Given the description of an element on the screen output the (x, y) to click on. 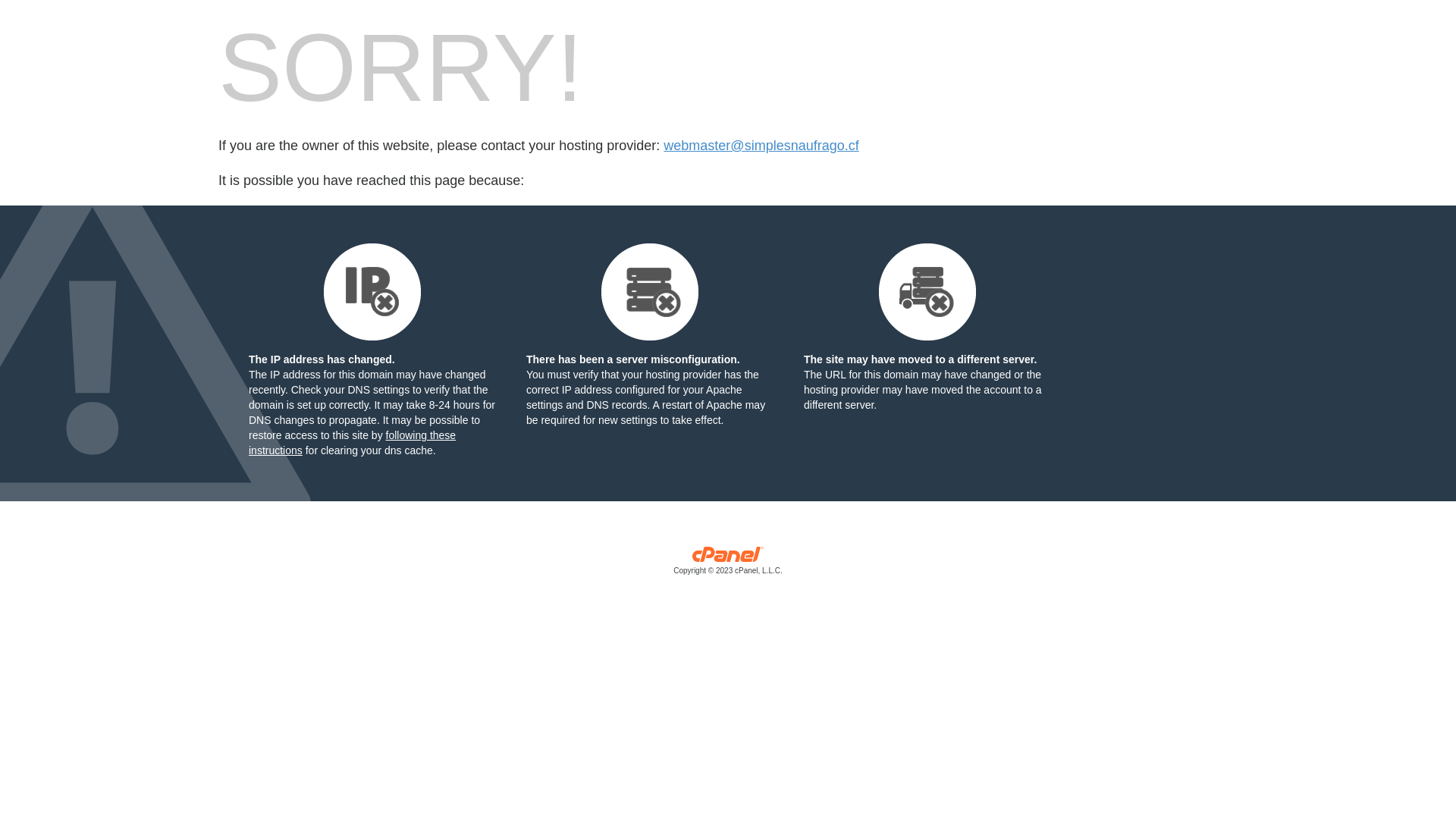
webmaster@simplesnaufrago.cf Element type: text (760, 145)
following these instructions Element type: text (351, 442)
